Given the description of an element on the screen output the (x, y) to click on. 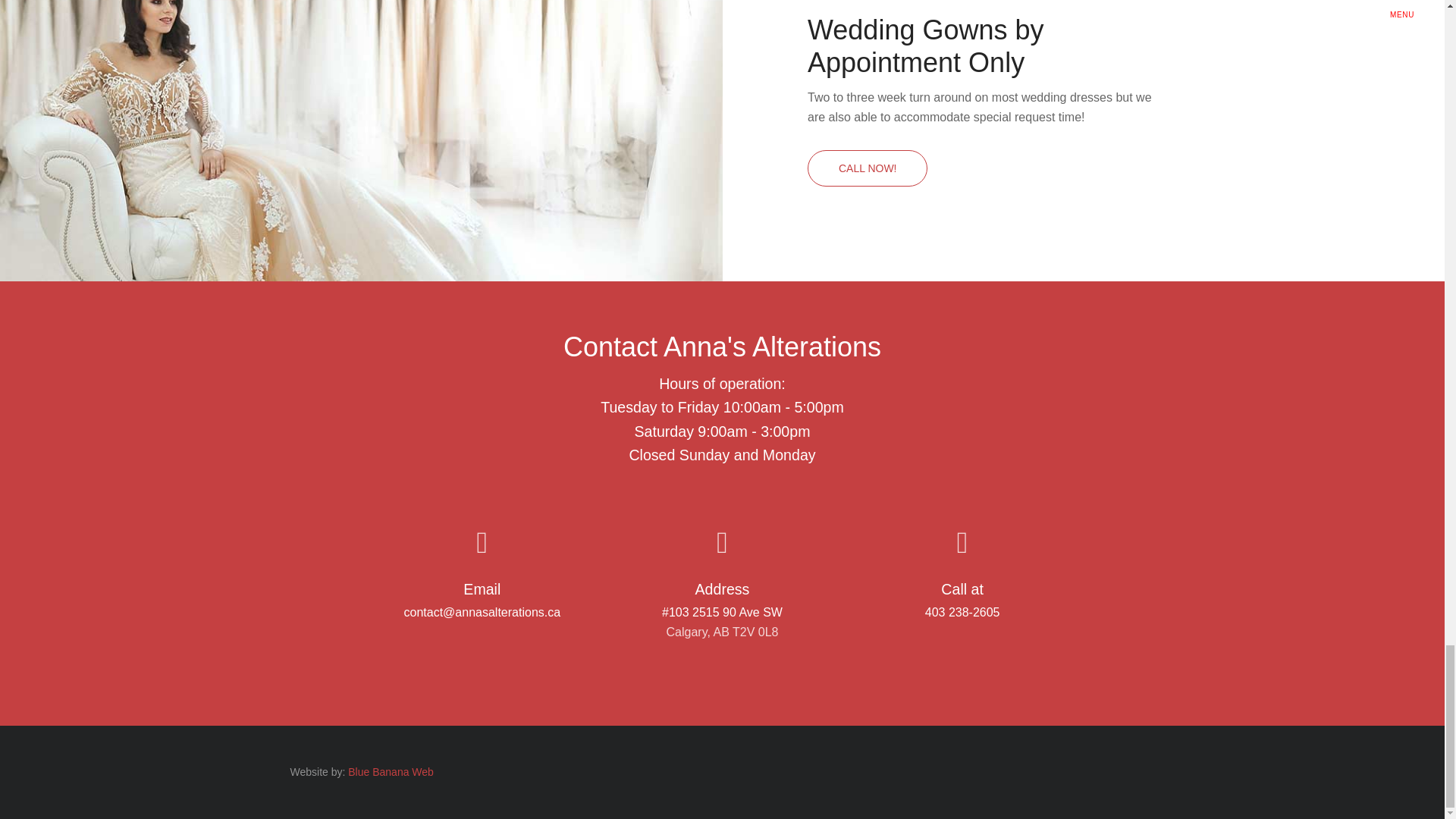
CALL NOW! (868, 167)
Blue Banana Web (390, 771)
403 238-2605 (962, 612)
